Given the description of an element on the screen output the (x, y) to click on. 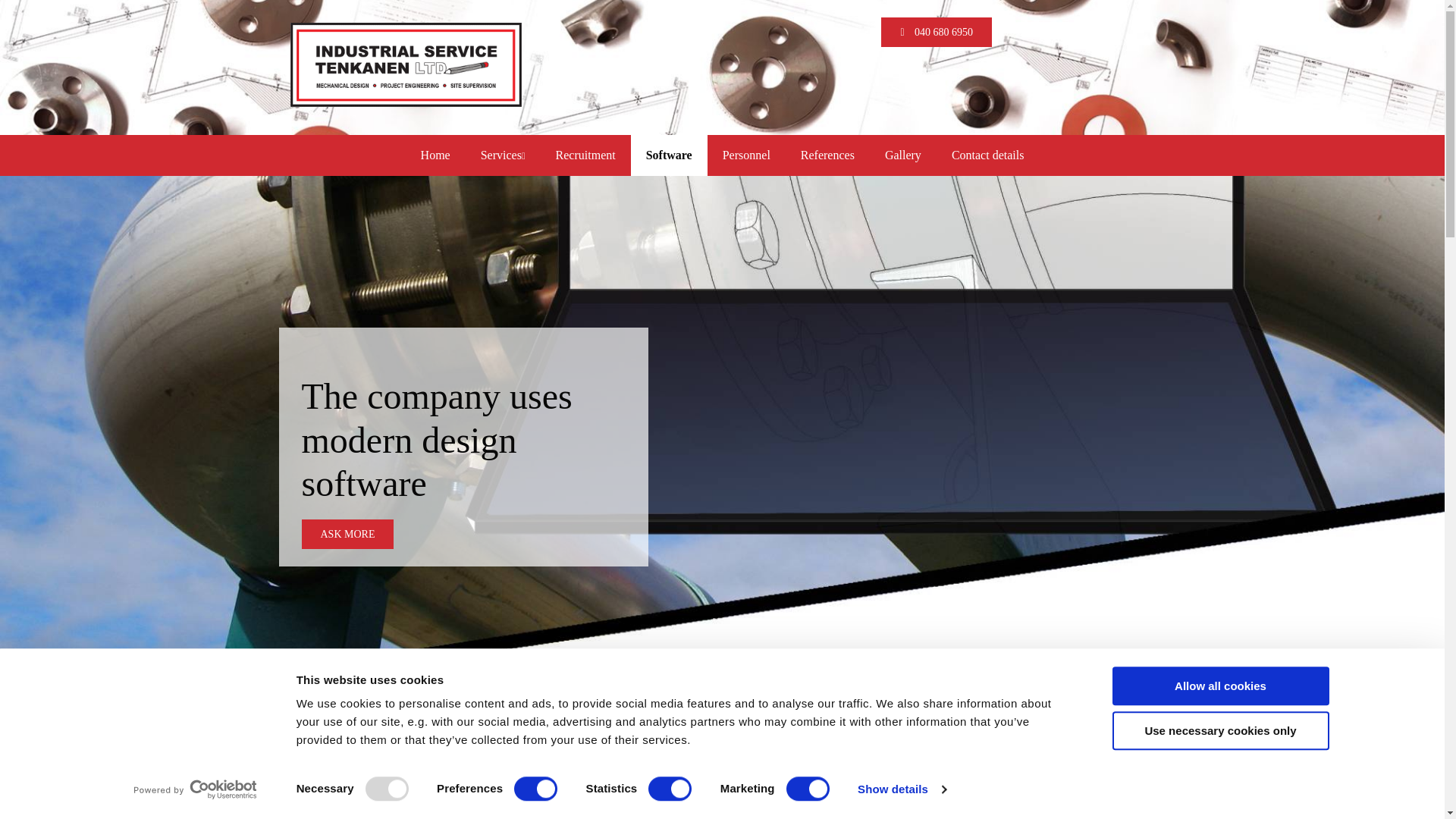
Use necessary cookies only (1219, 730)
Allow all cookies (1219, 685)
Show details (900, 789)
Services (502, 155)
Home (435, 155)
040 680 6950 (935, 31)
